Given the description of an element on the screen output the (x, y) to click on. 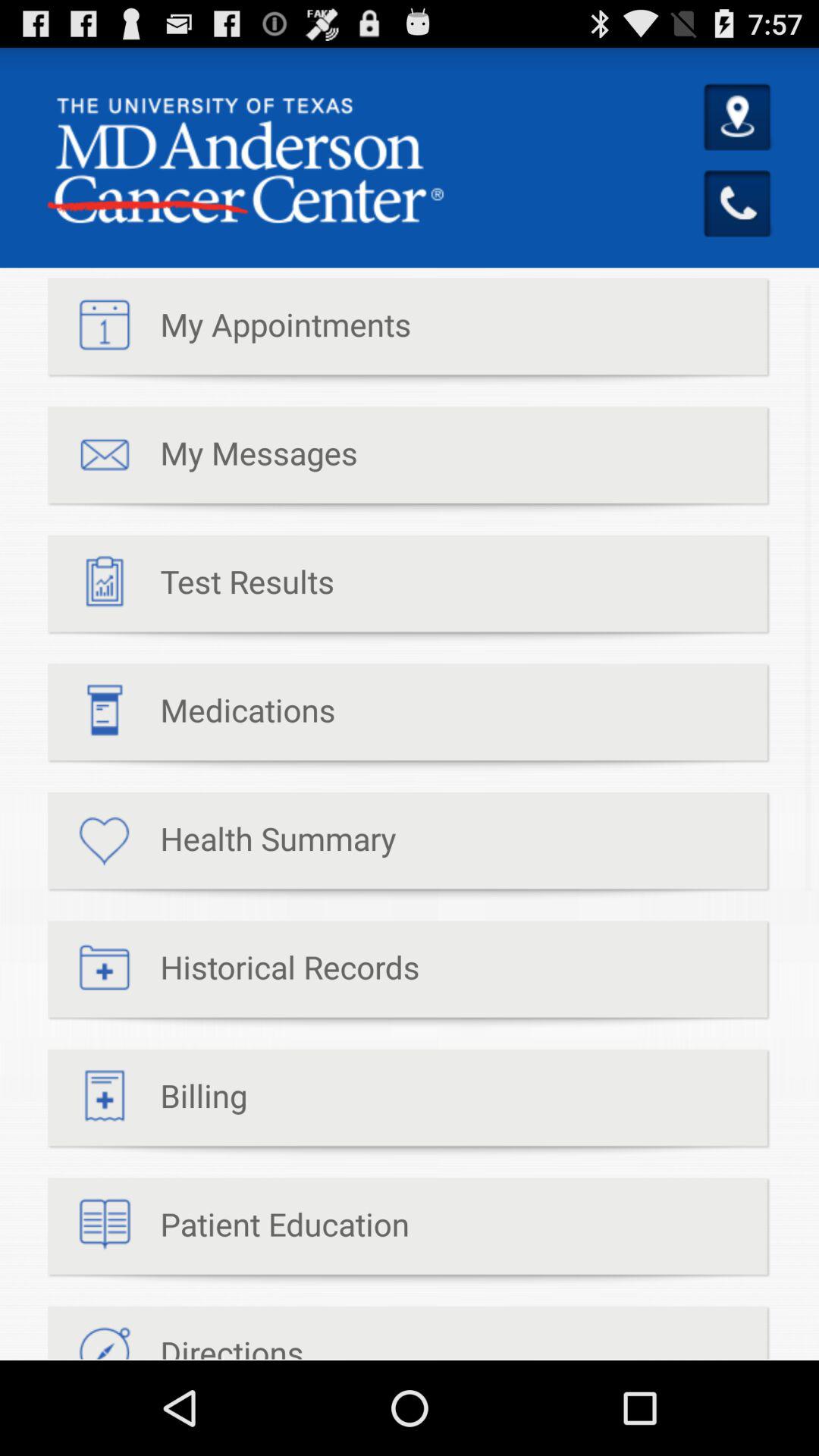
turn off the health summary item (221, 846)
